Given the description of an element on the screen output the (x, y) to click on. 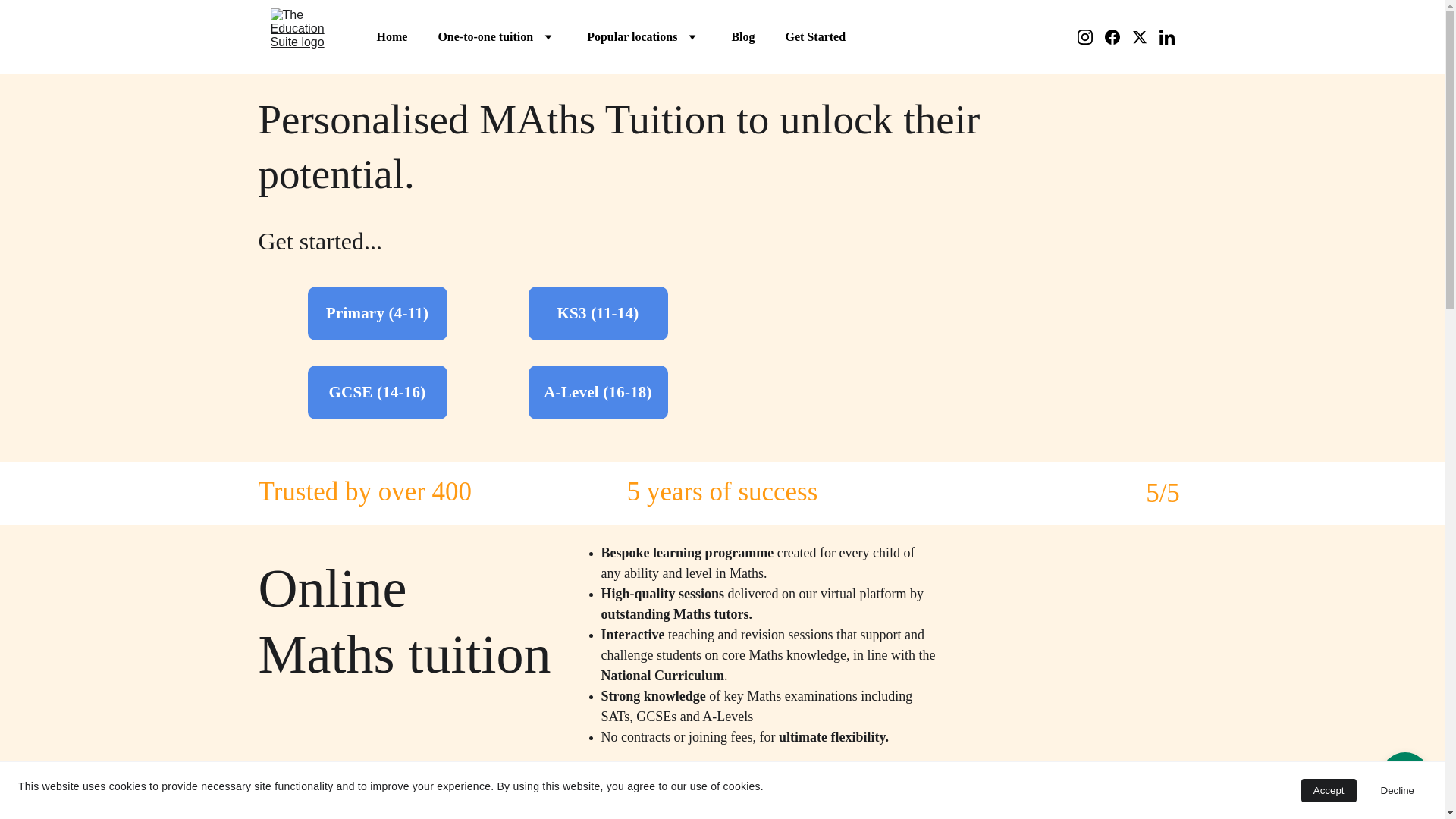
Get Started (815, 36)
Home (391, 36)
Open WhatsApp (1404, 776)
Popular locations (631, 36)
Blog (742, 36)
